Given the description of an element on the screen output the (x, y) to click on. 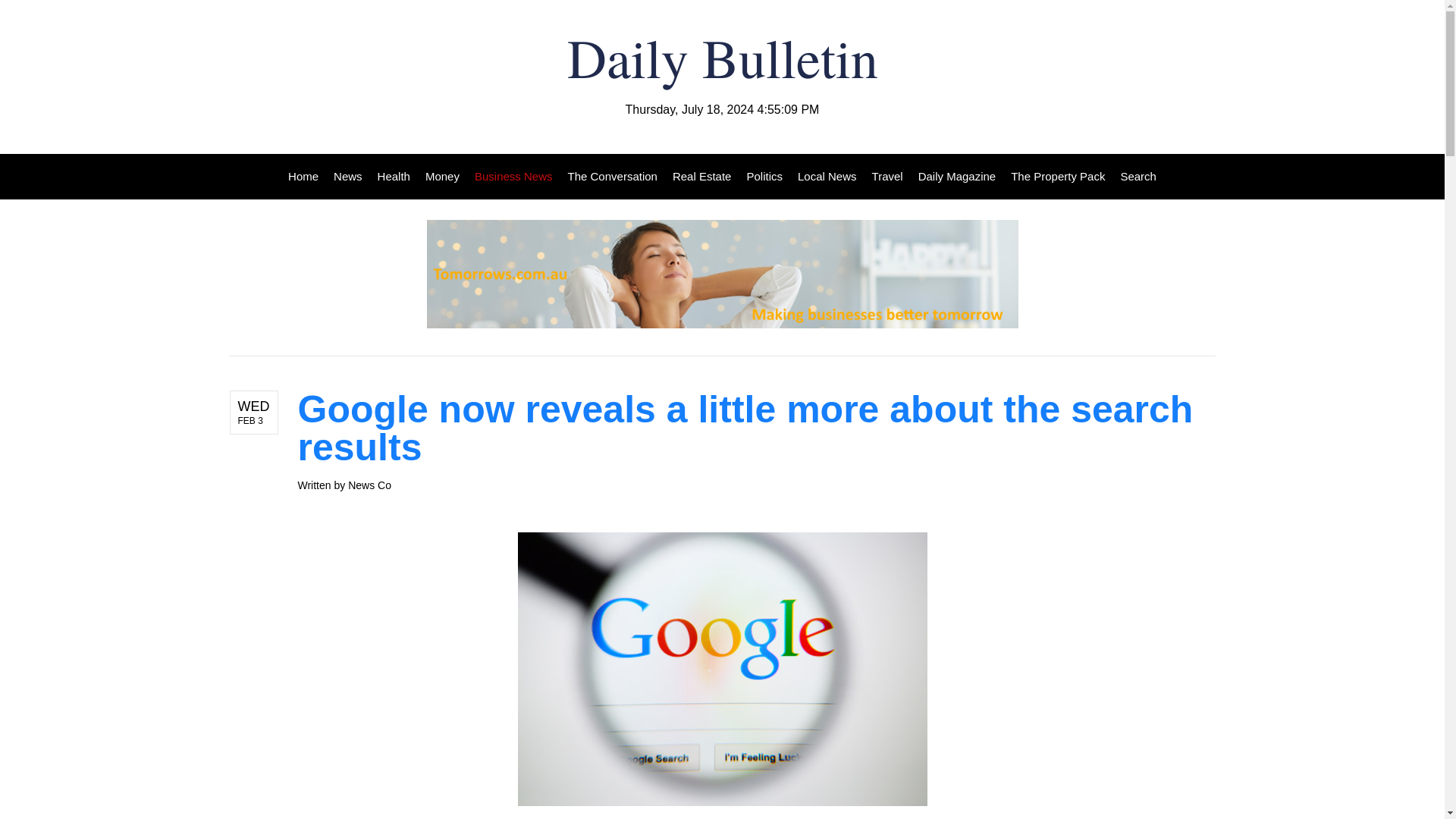
Health (393, 176)
News (347, 176)
The Conversation (612, 176)
Real Estate (702, 176)
Home (307, 176)
Search (1134, 176)
Search (1134, 176)
The Property Pack (1057, 176)
Travel (887, 176)
Local News (827, 176)
Daily Magazine (957, 176)
Business News (513, 176)
Politics (764, 176)
Money (442, 176)
